Given the description of an element on the screen output the (x, y) to click on. 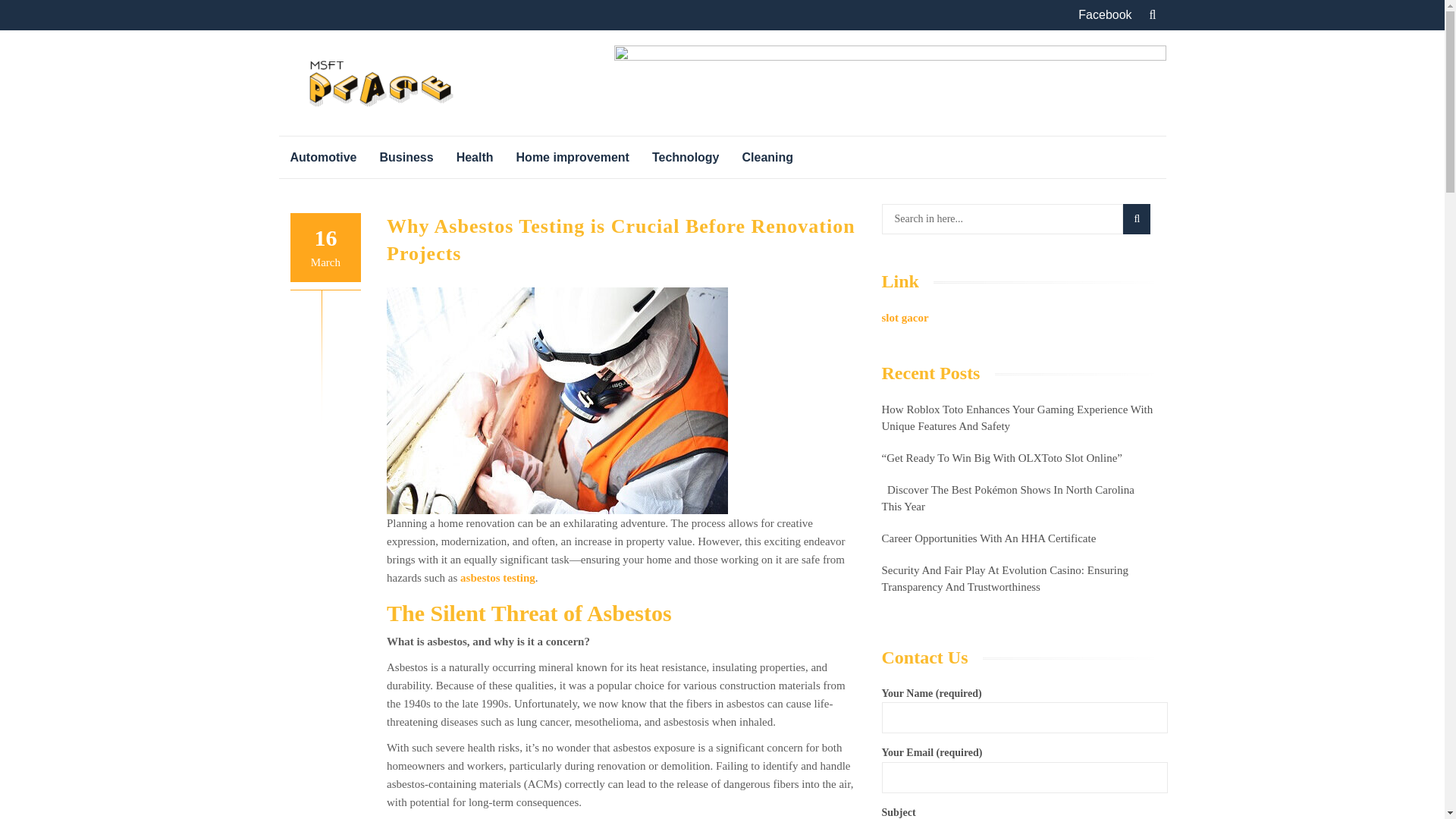
Facebook (1104, 15)
Automotive (323, 157)
Technology (685, 157)
Search for: (1001, 218)
asbestos testing (497, 577)
Search (1136, 218)
Home improvement (572, 157)
Cleaning (767, 157)
Health (475, 157)
Business (406, 157)
